Given the description of an element on the screen output the (x, y) to click on. 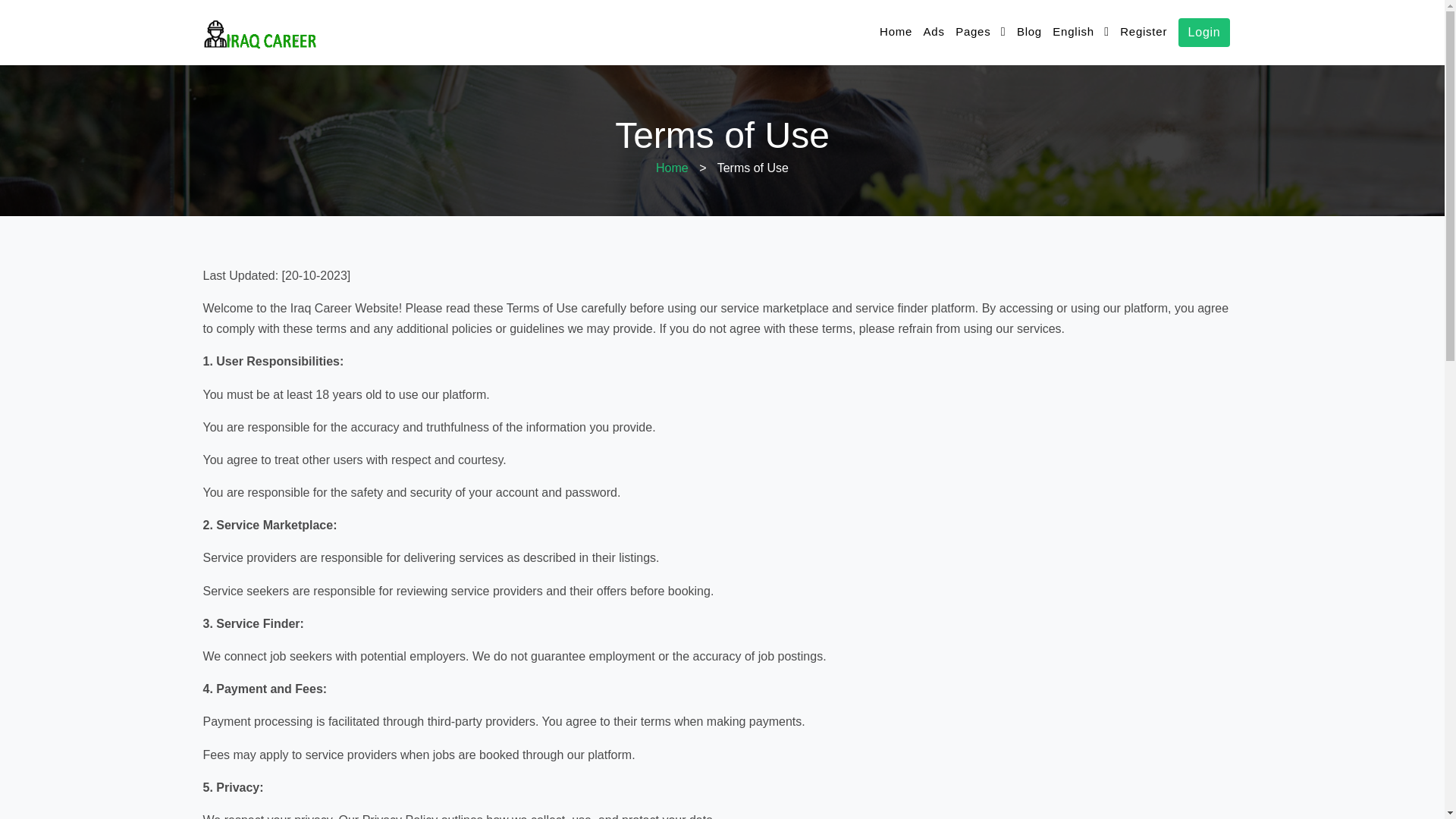
English (1080, 31)
Pages (980, 31)
Ads (933, 31)
Login (1203, 32)
Register (1143, 31)
Home (895, 31)
Blog (1029, 31)
Home (672, 167)
